Given the description of an element on the screen output the (x, y) to click on. 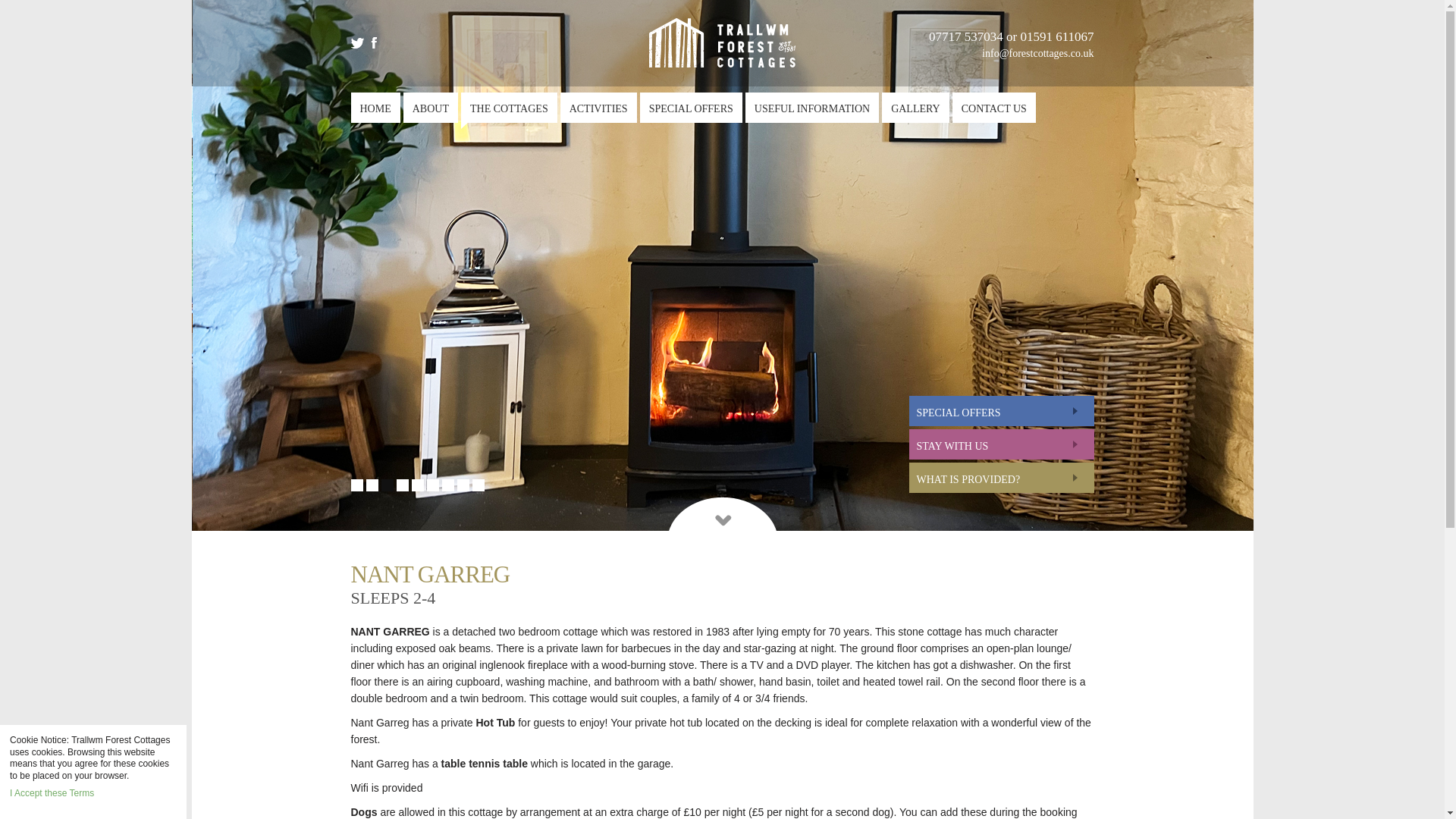
THE COTTAGES (509, 107)
USEFUL INFORMATION (812, 107)
3 (386, 485)
4 (401, 485)
5 (416, 485)
ABOUT (430, 107)
1 (356, 485)
GALLERY (915, 107)
I Accept these Terms (52, 792)
2 (371, 485)
SPECIAL OFFERS (691, 107)
6 (432, 485)
ACTIVITIES (598, 107)
CONTACT US (993, 107)
Forest Cottages in Mid Wales (721, 42)
